Given the description of an element on the screen output the (x, y) to click on. 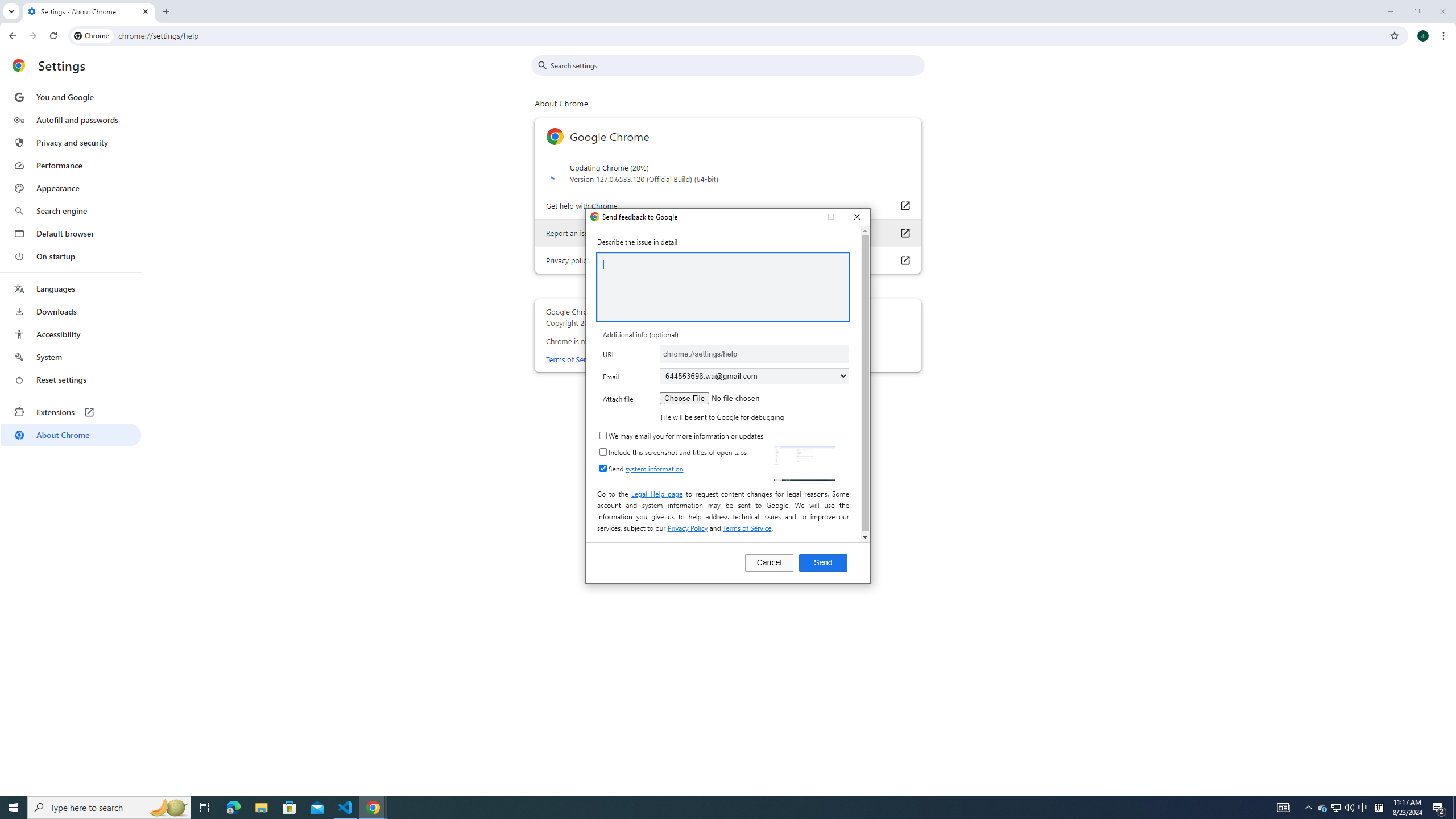
URL (753, 353)
Get help with Chrome (904, 205)
Autofill and passwords (70, 119)
system information (1322, 807)
Search highlights icon opens search home window (654, 468)
Legal Help page (167, 807)
Choose File: No file chosen (656, 492)
Task View (1335, 807)
